Given the description of an element on the screen output the (x, y) to click on. 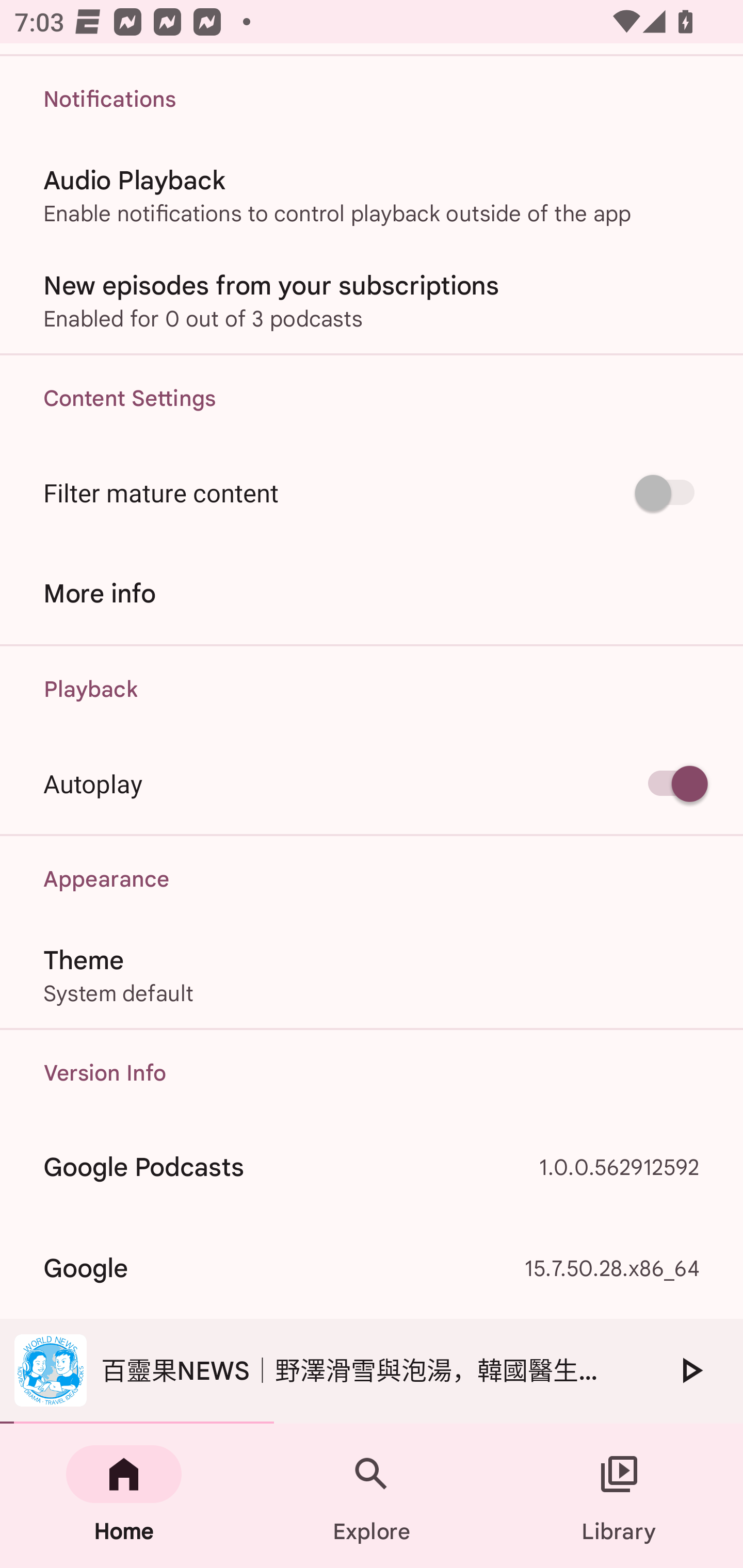
More info (371, 593)
Autoplay (371, 783)
Theme System default (371, 974)
Google Podcasts 1.0.0.562912592 (371, 1167)
Google 15.7.50.28.x86_64 (371, 1268)
Play (690, 1370)
Explore (371, 1495)
Library (619, 1495)
